Given the description of an element on the screen output the (x, y) to click on. 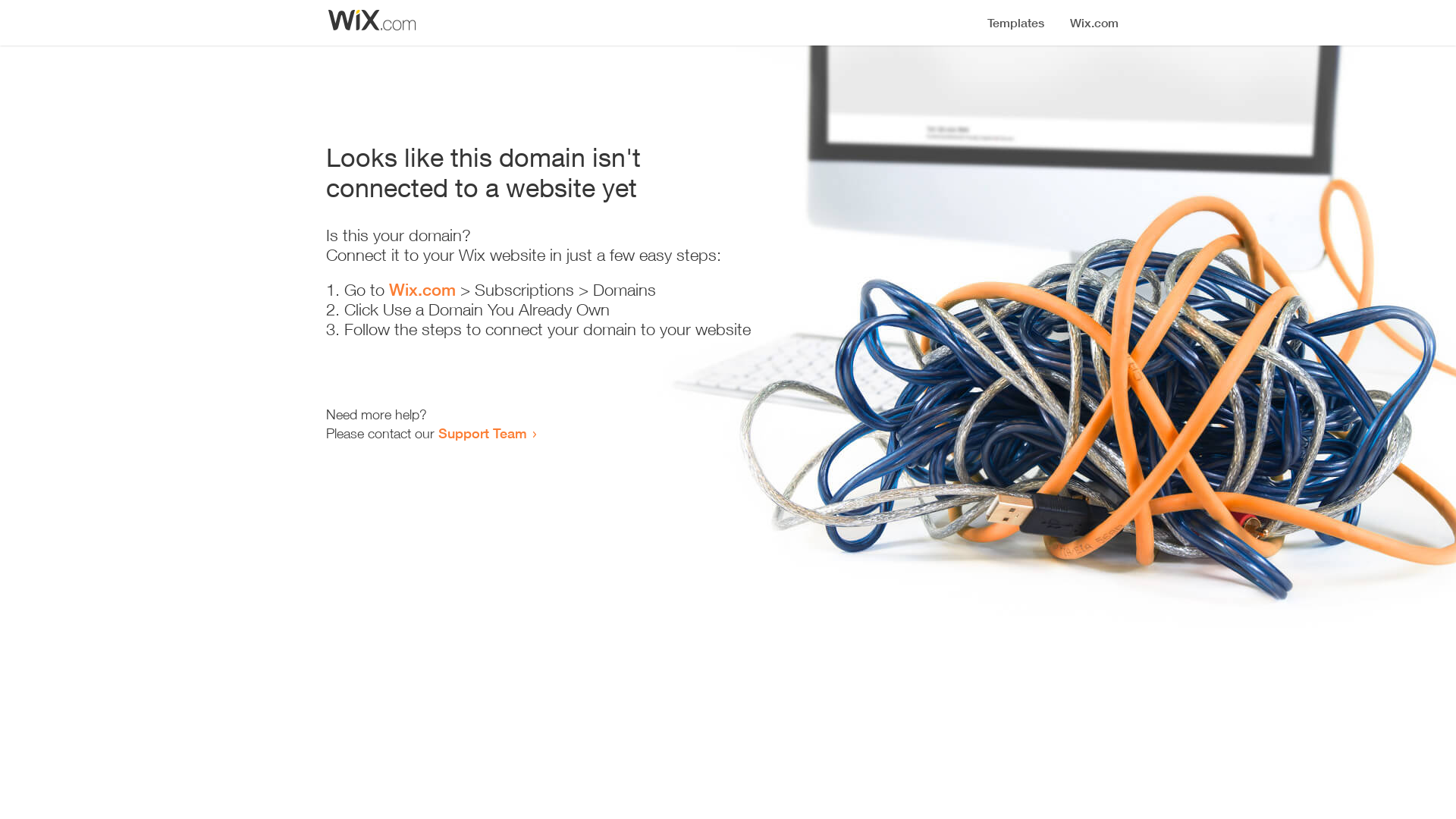
Wix.com Element type: text (422, 289)
Support Team Element type: text (482, 432)
